Given the description of an element on the screen output the (x, y) to click on. 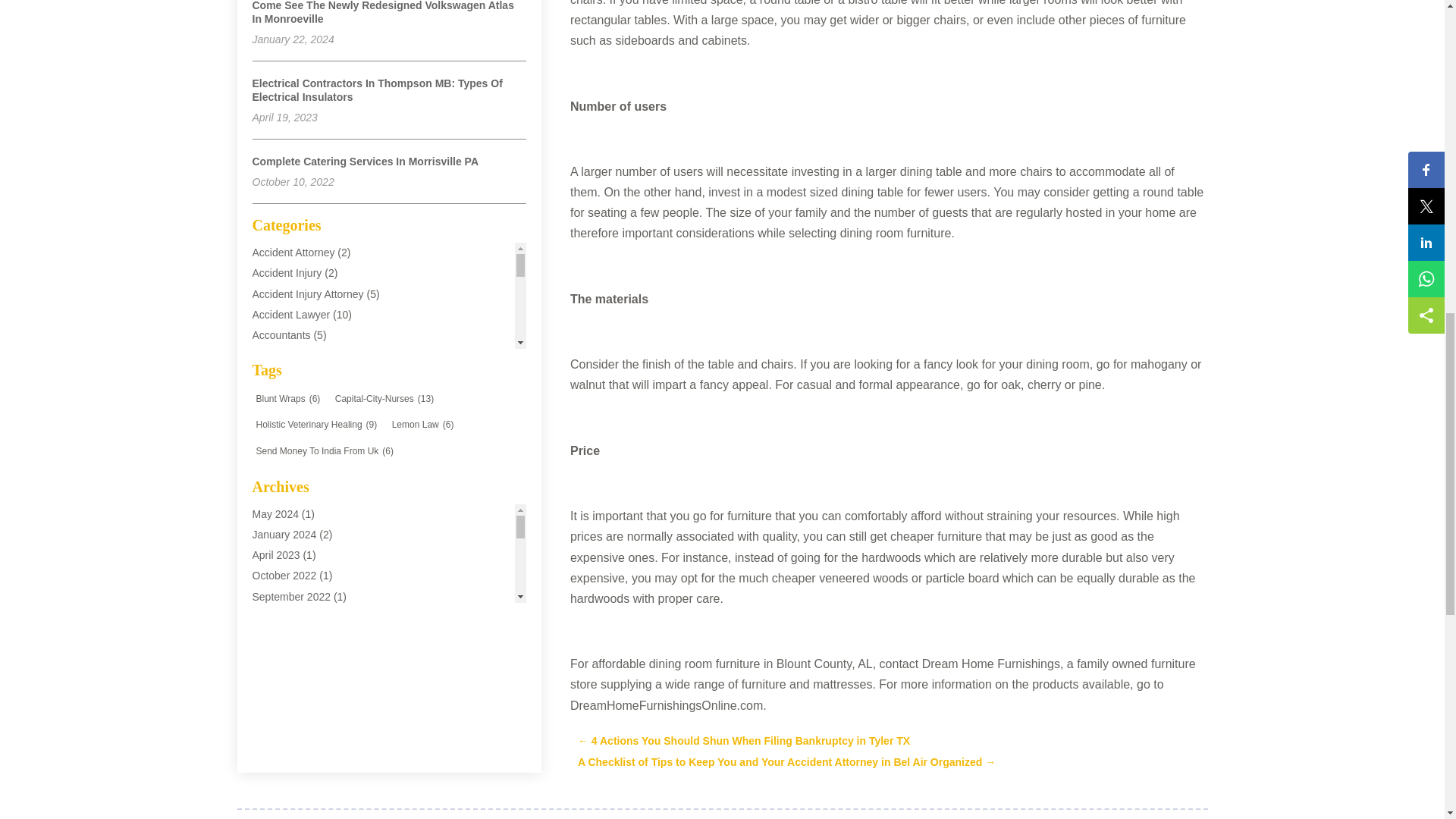
Air Conditioner (286, 521)
Addiction Treatment (298, 376)
Accountants (280, 335)
Agriculture And Forestry (308, 500)
Accident Injury (286, 272)
Accident Lawyer (290, 314)
Adoption (272, 438)
Accident Attorney (292, 252)
Complete Catering Services In Morrisville PA (365, 161)
Air Conditioning (288, 541)
Adventure And Sports (303, 458)
Addiction Treatment Center (315, 397)
Accounting (277, 355)
